Given the description of an element on the screen output the (x, y) to click on. 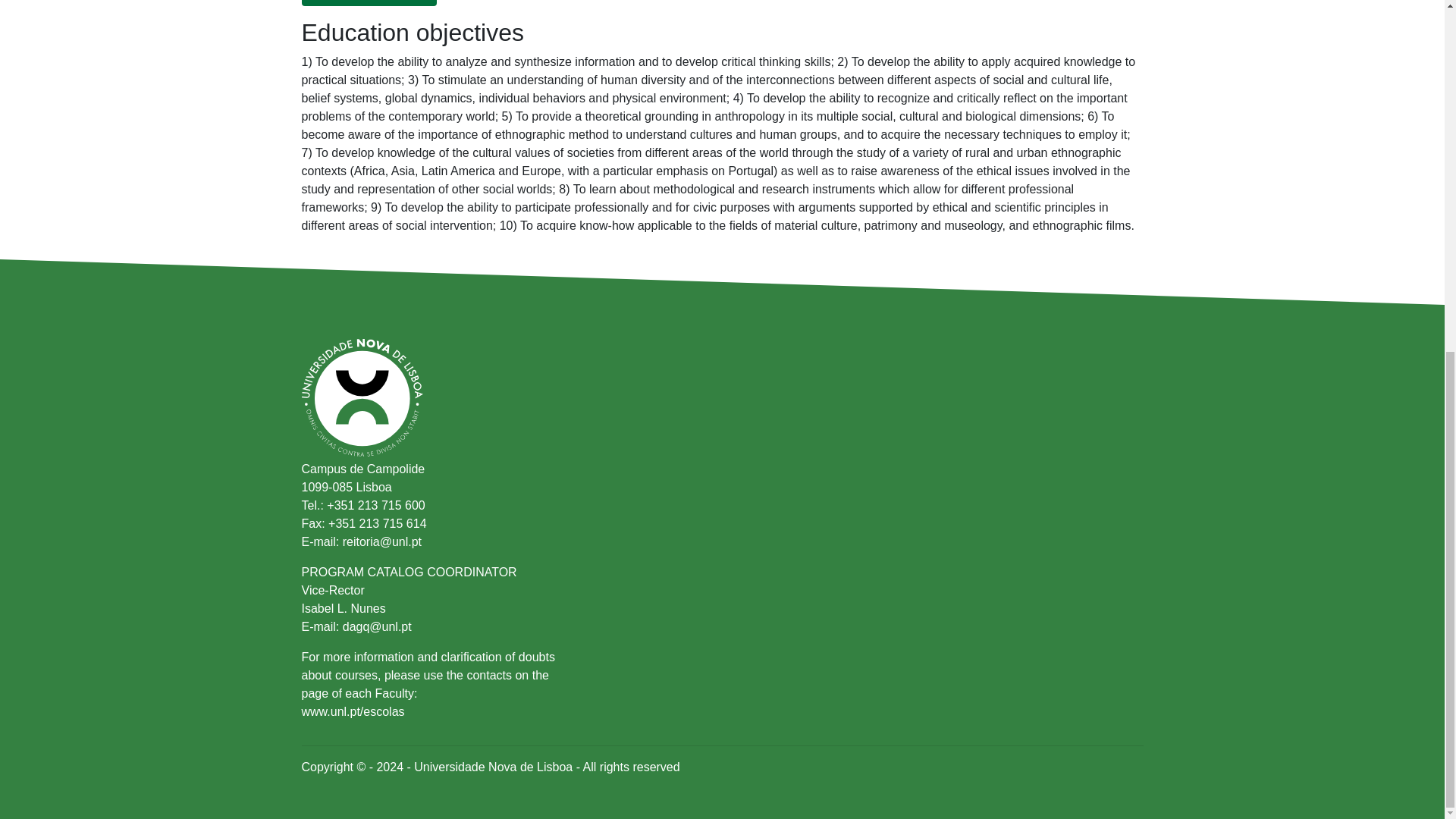
Education objectives (369, 2)
General characterization (514, 2)
Structure (630, 2)
